Given the description of an element on the screen output the (x, y) to click on. 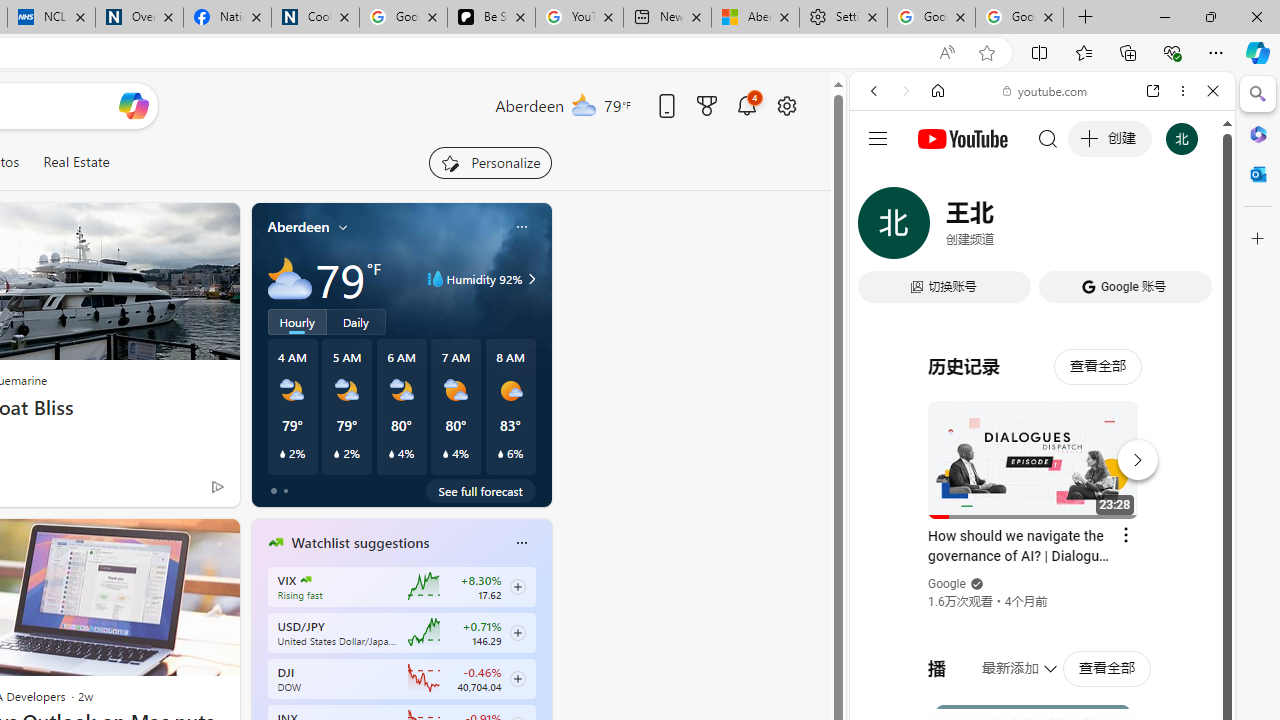
Music (1042, 543)
Search Filter, IMAGES (939, 228)
Forward (906, 91)
Google (1042, 494)
Aberdeen (298, 227)
This story is trending (178, 490)
Trailer #2 [HD] (1042, 594)
Personalize your feed" (489, 162)
Real Estate (75, 162)
Open Copilot (132, 105)
Global web icon (888, 288)
